Given the description of an element on the screen output the (x, y) to click on. 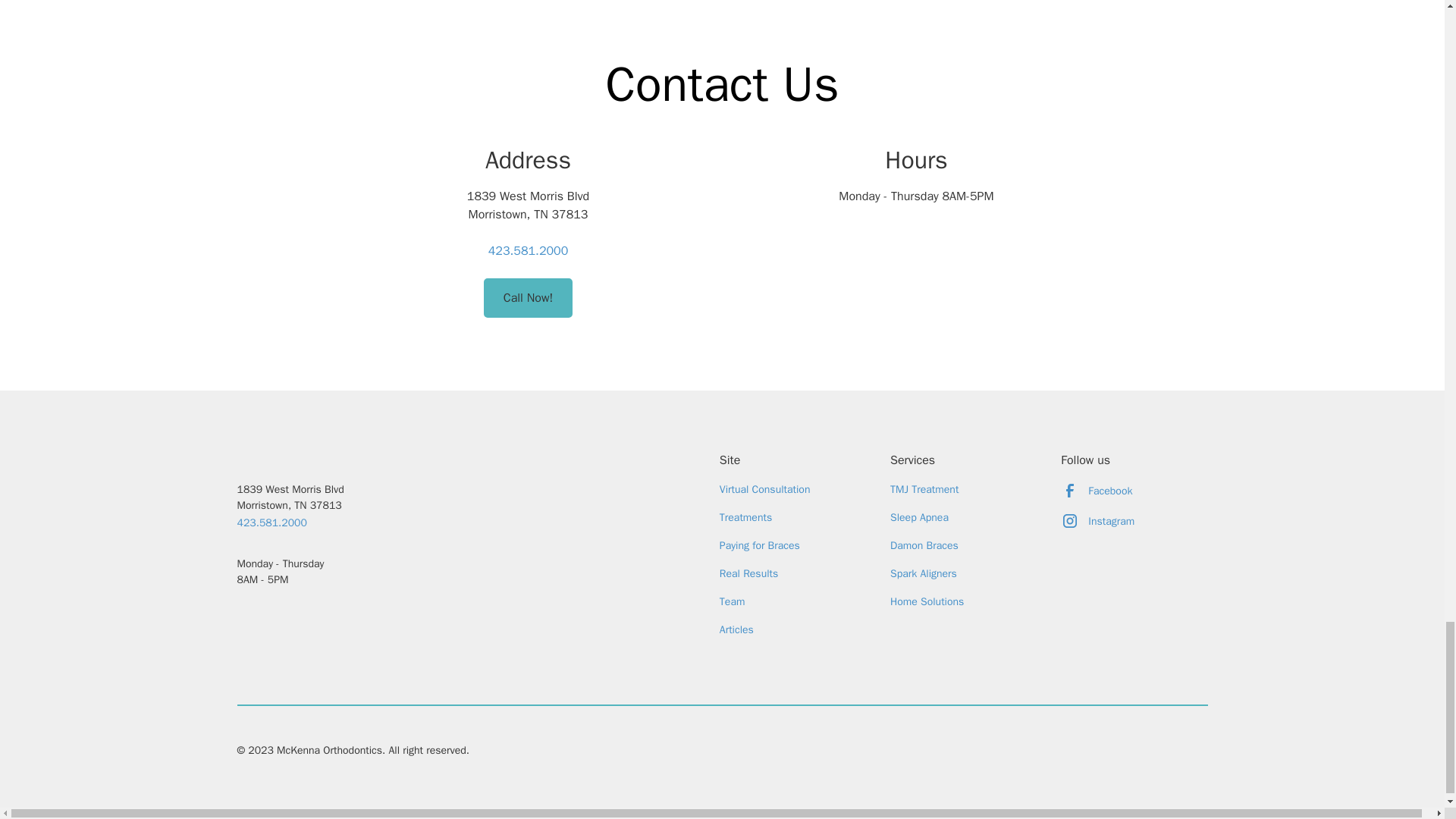
Team (732, 601)
Virtual Consultation (764, 489)
Call Now! (528, 297)
Treatments (745, 517)
Sleep Apnea (919, 517)
Paying for Braces (759, 545)
Facebook (1096, 490)
Spark Aligners (922, 573)
Damon Braces (923, 545)
423.581.2000 (528, 250)
